Given the description of an element on the screen output the (x, y) to click on. 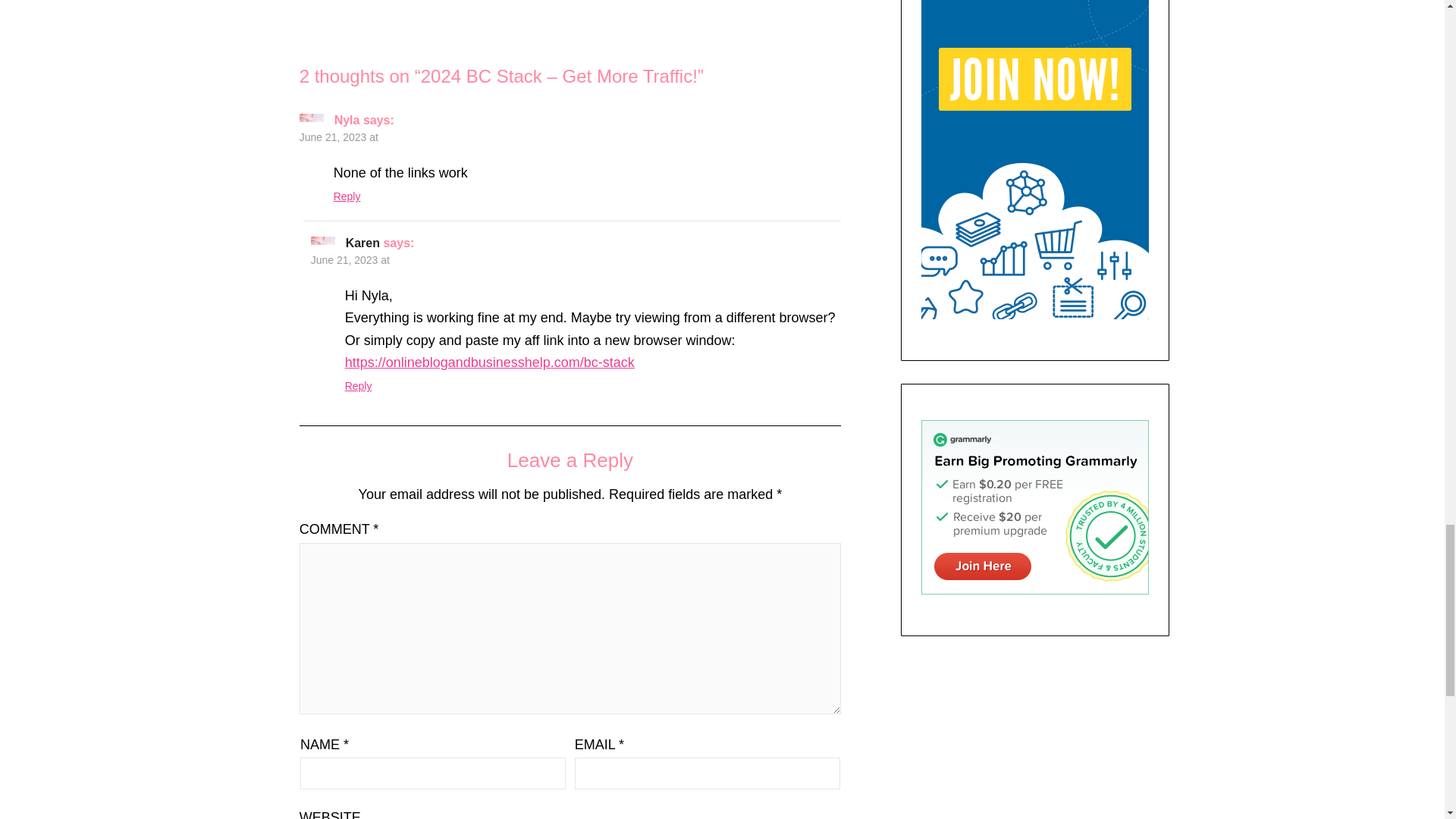
Karen (363, 242)
Reply (347, 196)
Reply (358, 386)
June 21, 2023 at (350, 259)
June 21, 2023 at (338, 137)
